Given the description of an element on the screen output the (x, y) to click on. 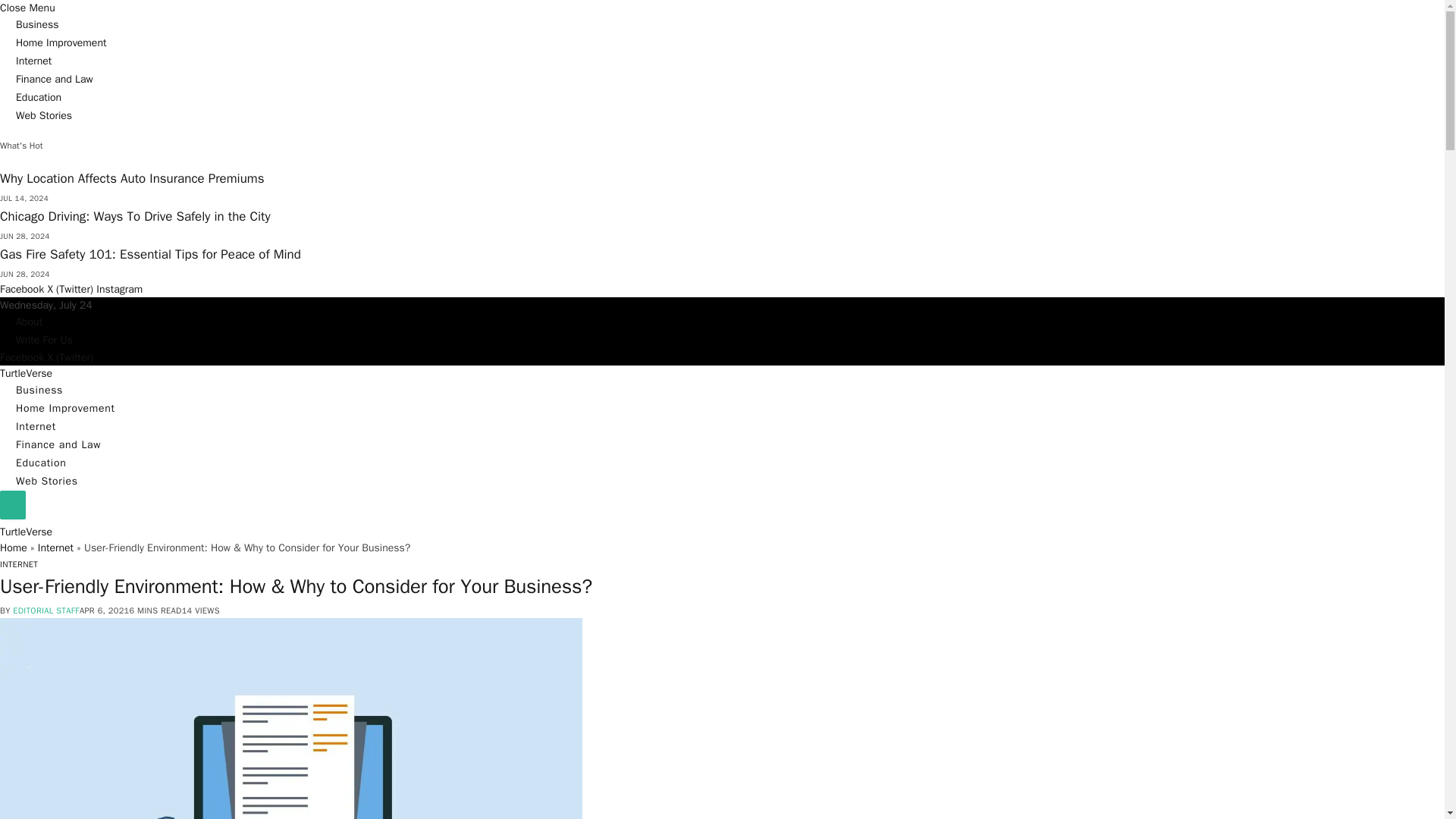
Home Improvement (65, 408)
Facebook (23, 357)
About (29, 321)
Home Improvement (61, 42)
Internet (55, 547)
Close Menu (27, 7)
EDITORIAL STAFF (46, 610)
Chicago Driving: Ways To Drive Safely in the City (135, 216)
TurtleVerse (26, 531)
Posts by Editorial Staff (46, 610)
Why Location Affects Auto Insurance Premiums (131, 178)
Business (39, 390)
Finance and Law (58, 444)
Facebook (23, 288)
INTERNET (18, 563)
